Given the description of an element on the screen output the (x, y) to click on. 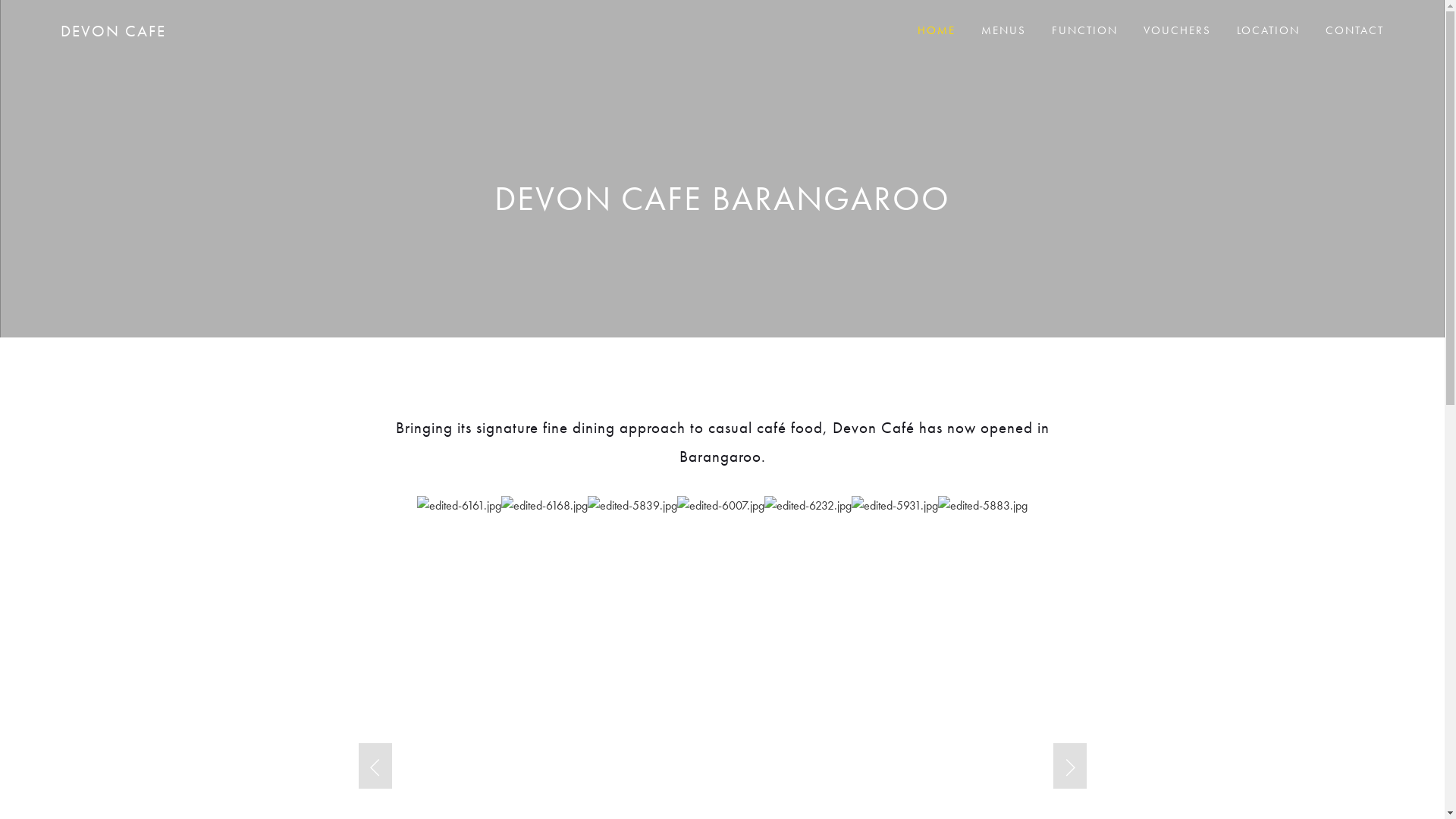
FUNCTION Element type: text (1084, 29)
DEVON CAFE Element type: text (113, 29)
LOCATION Element type: text (1267, 29)
CONTACT Element type: text (1354, 29)
HOME Element type: text (936, 29)
VOUCHERS Element type: text (1177, 29)
MENUS Element type: text (1003, 29)
